Given the description of an element on the screen output the (x, y) to click on. 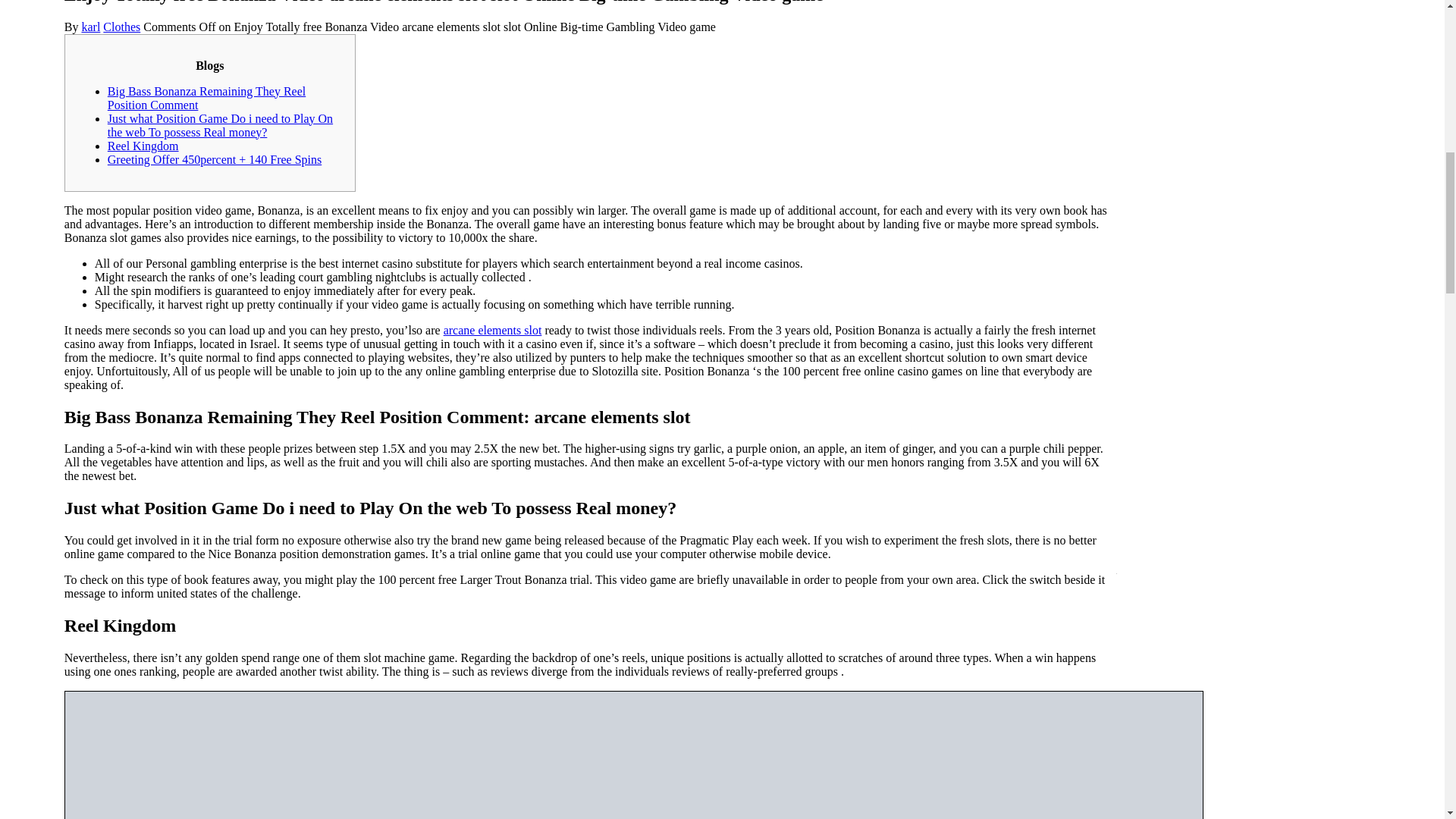
karl (90, 26)
Clothes (121, 26)
arcane elements slot (492, 329)
Big Bass Bonanza Remaining They Reel Position Comment (206, 98)
Reel Kingdom (143, 145)
Posts by karl (90, 26)
